Given the description of an element on the screen output the (x, y) to click on. 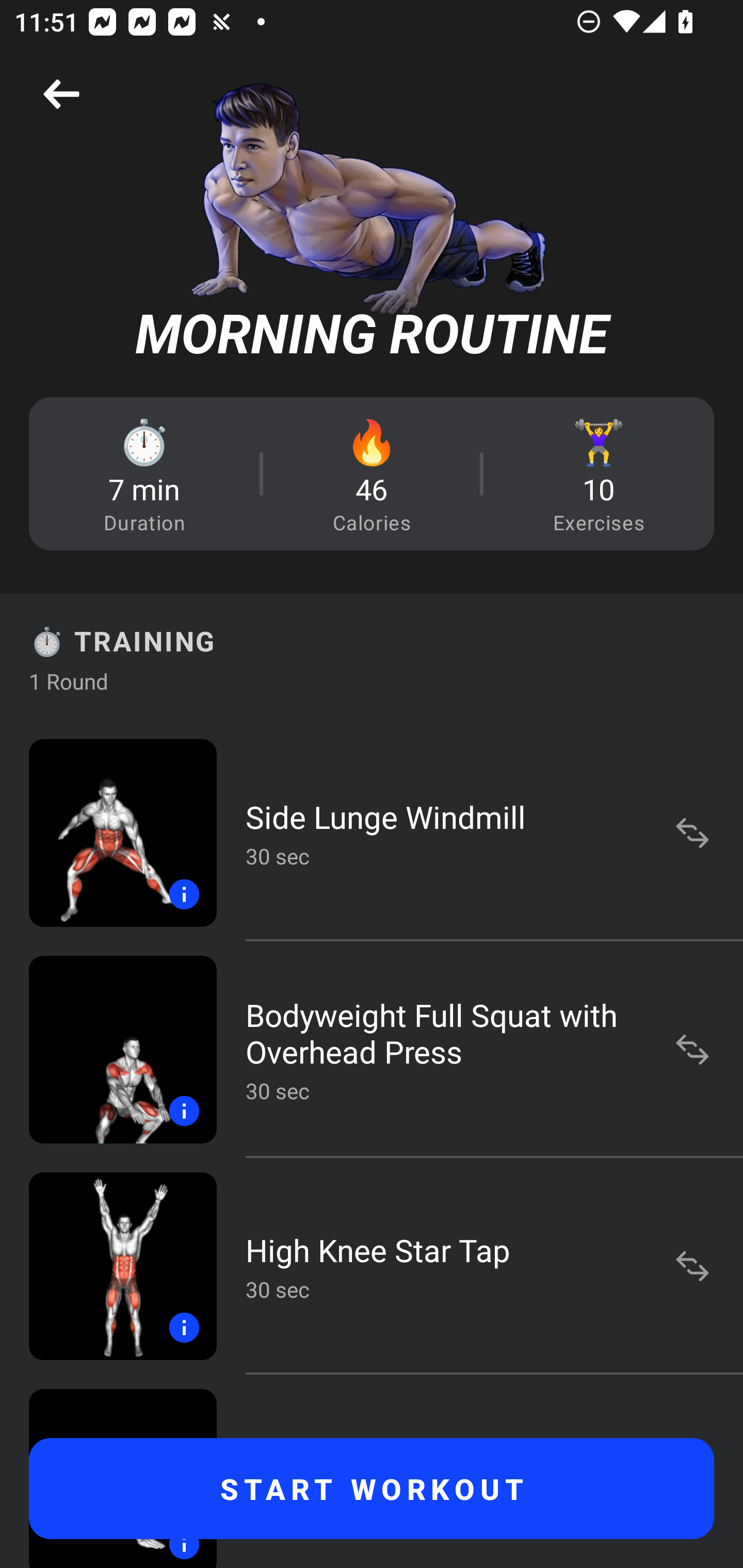
Side Lunge Windmill 30 sec (371, 832)
Bodyweight Full Squat with Overhead Press 30 sec (371, 1048)
High Knee Star Tap 30 sec (371, 1266)
START WORKOUT (371, 1488)
